Given the description of an element on the screen output the (x, y) to click on. 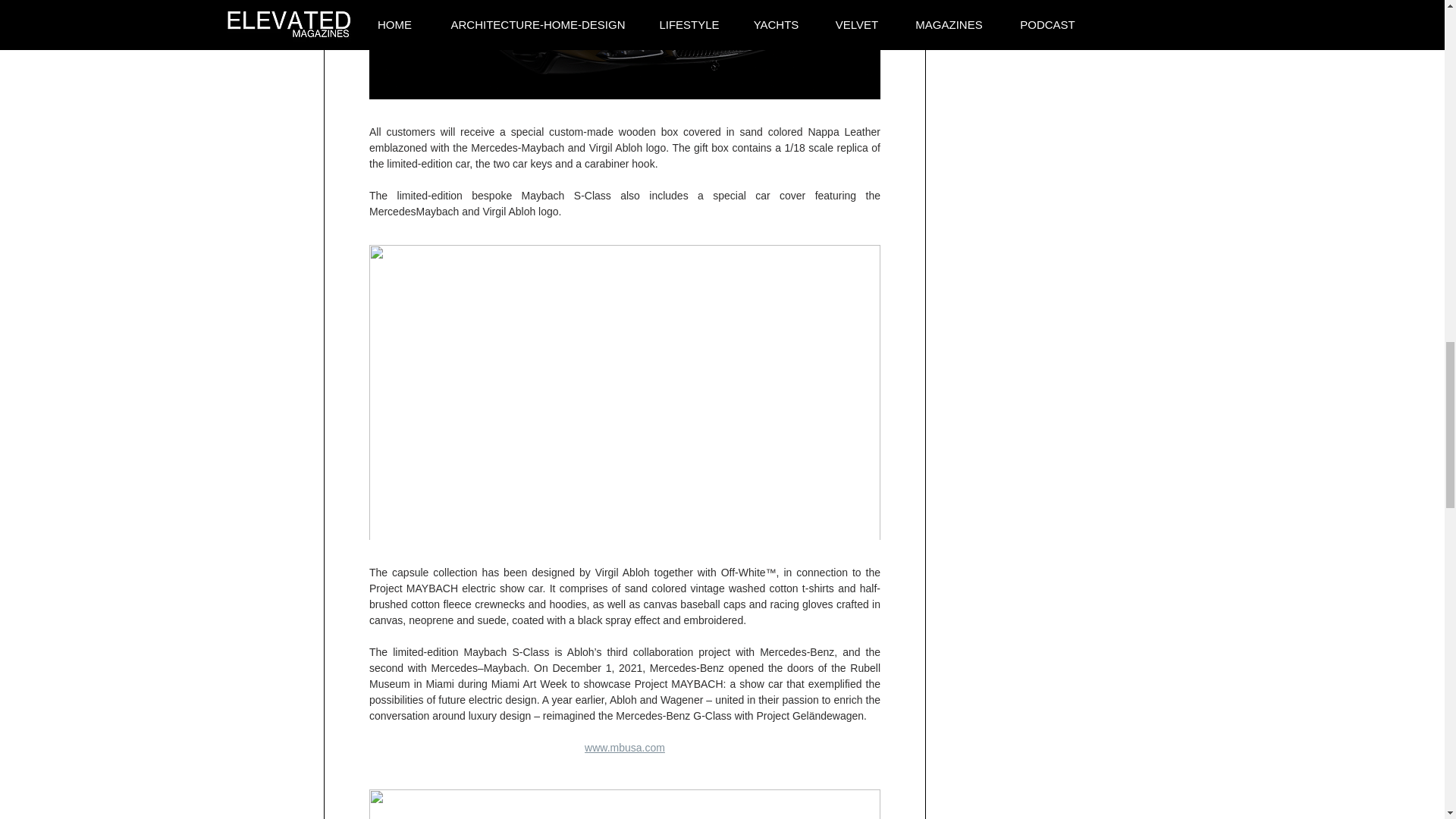
www.mbusa.com (625, 747)
